Given the description of an element on the screen output the (x, y) to click on. 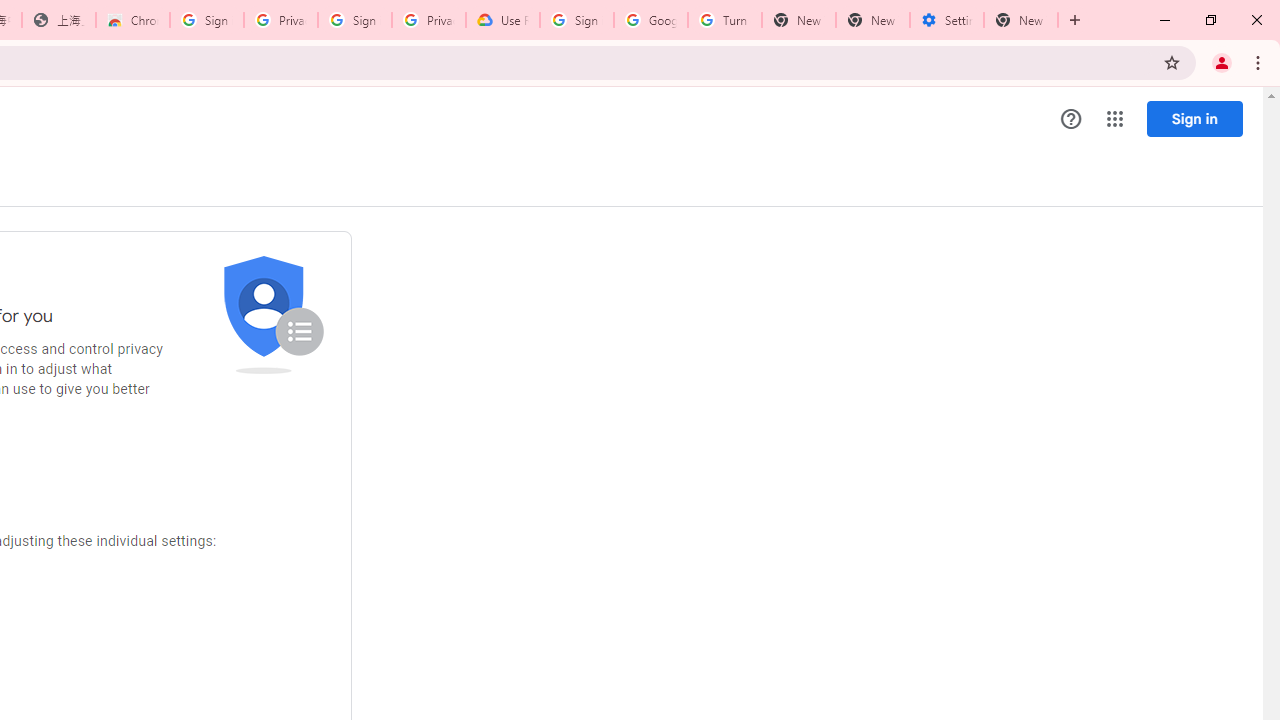
Sign in - Google Accounts (207, 20)
Settings - System (947, 20)
Sign in - Google Accounts (577, 20)
Turn cookies on or off - Computer - Google Account Help (724, 20)
Chrome Web Store - Color themes by Chrome (133, 20)
